Given the description of an element on the screen output the (x, y) to click on. 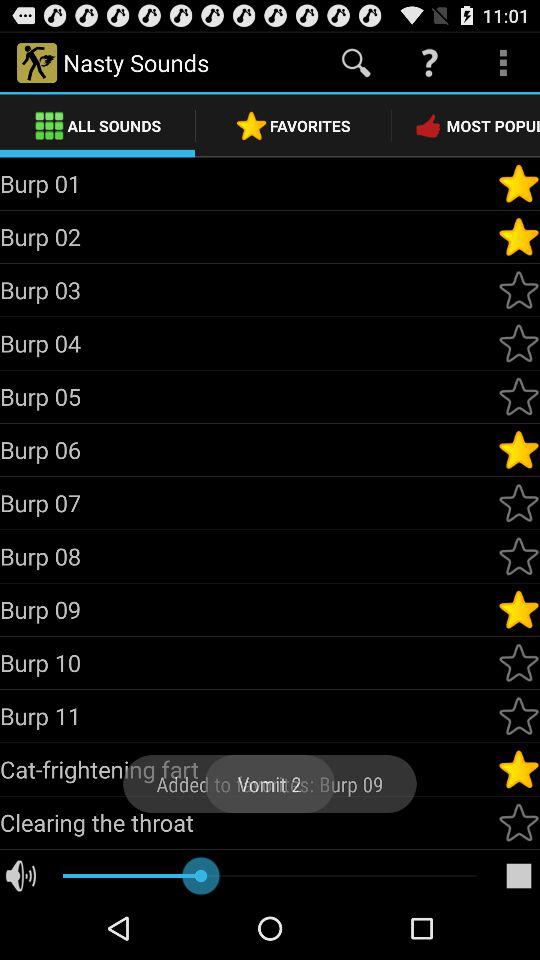
toggle favorite (519, 663)
